Given the description of an element on the screen output the (x, y) to click on. 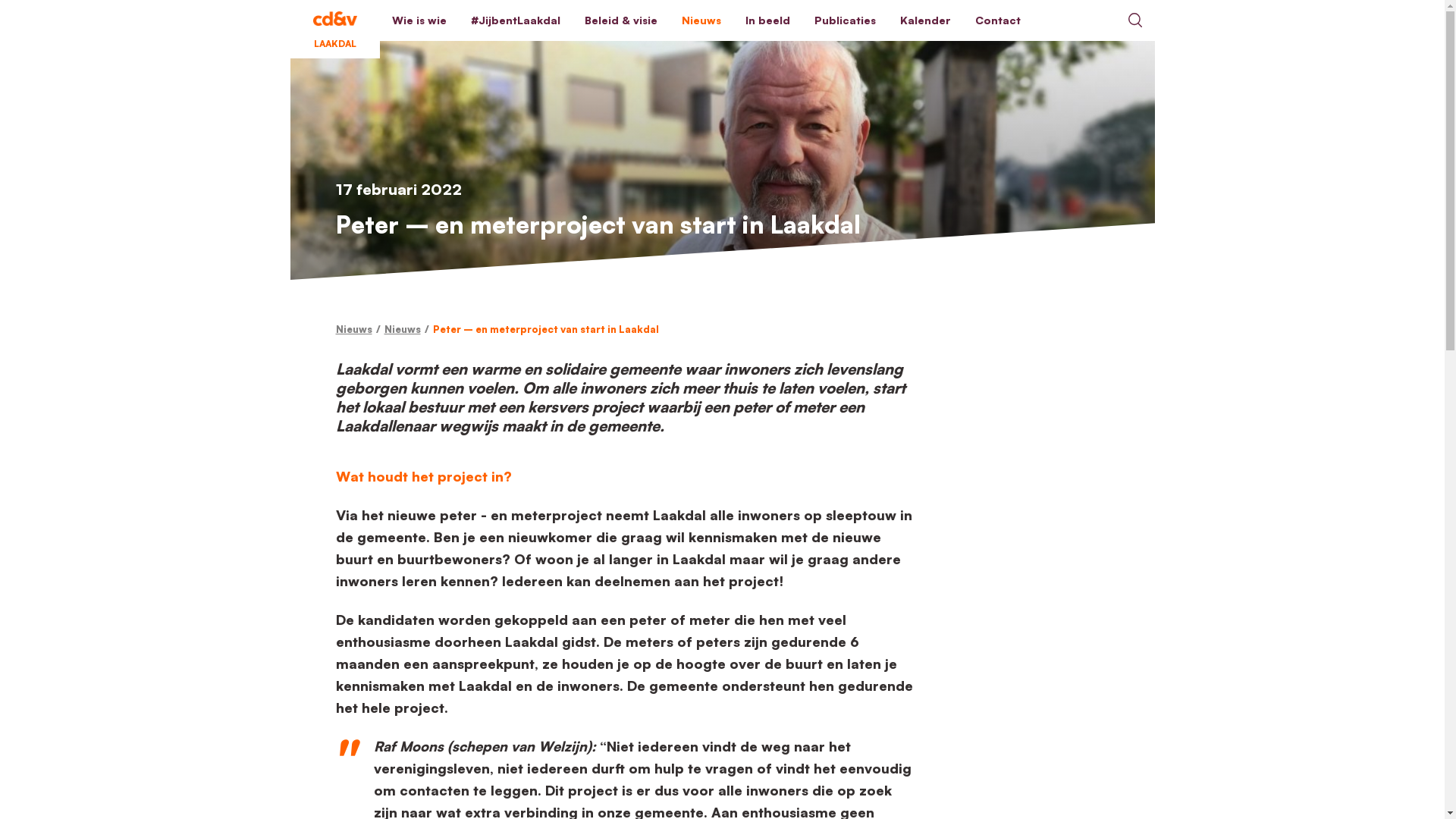
Publicaties Element type: text (845, 20)
Kalender Element type: text (924, 20)
Beleid & visie Element type: text (619, 20)
In beeld Element type: text (766, 20)
Contact Element type: text (997, 20)
#JijbentLaakdal Element type: text (514, 20)
Nieuws Element type: text (401, 329)
Nieuws Element type: text (353, 329)
Nieuws Element type: text (700, 20)
LAAKDAL Element type: text (334, 19)
Search Element type: hover (1134, 19)
Wie is wie Element type: text (418, 20)
